Given the description of an element on the screen output the (x, y) to click on. 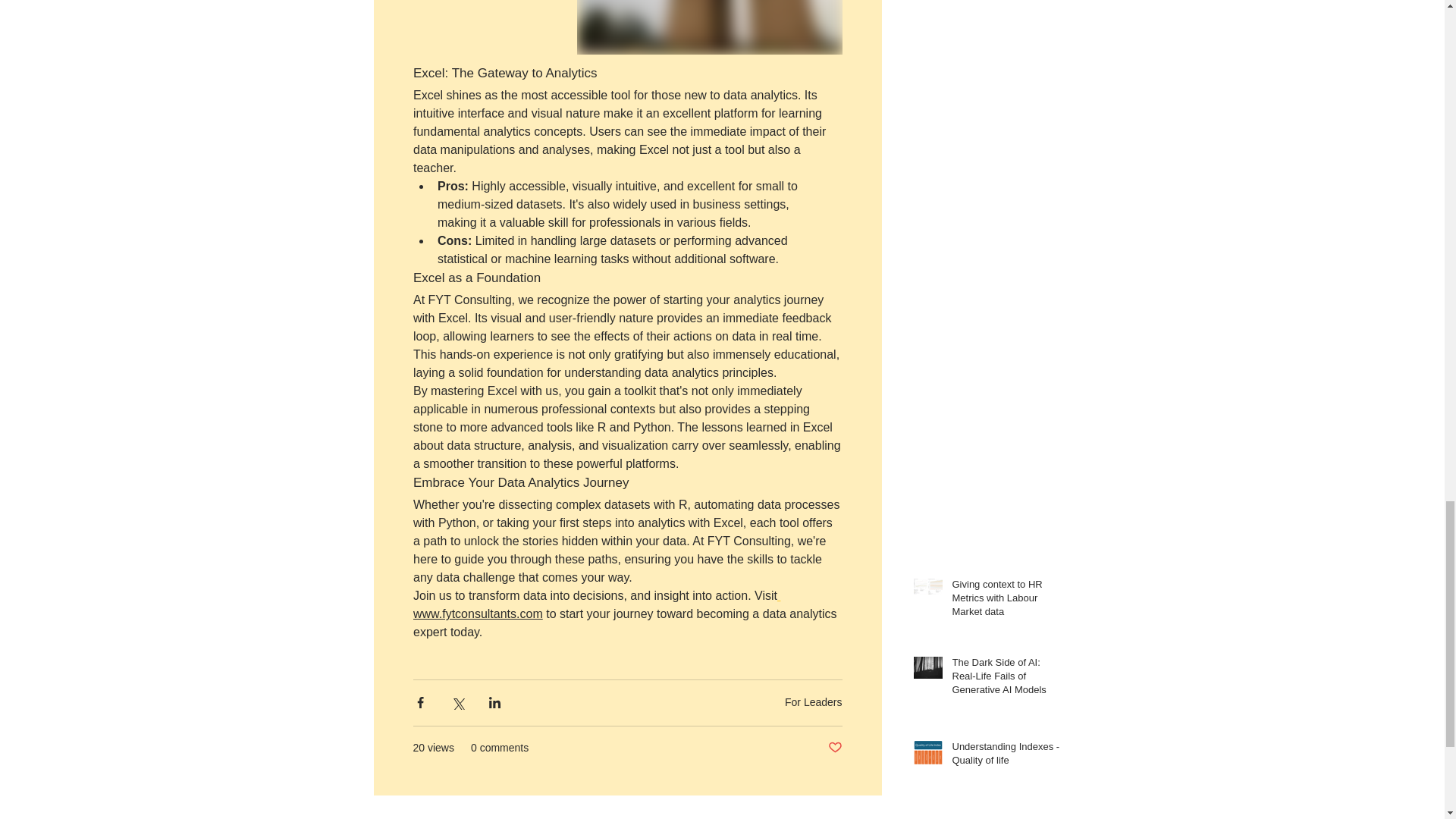
www.fytconsultants.com (476, 614)
The Dark Side of AI: Real-Life Fails of Generative AI Models (1006, 679)
Understanding Indexes - Quality of life (1006, 756)
Giving context to HR Metrics with Labour Market data (1006, 601)
For Leaders (812, 702)
Post not marked as liked (835, 747)
